Given the description of an element on the screen output the (x, y) to click on. 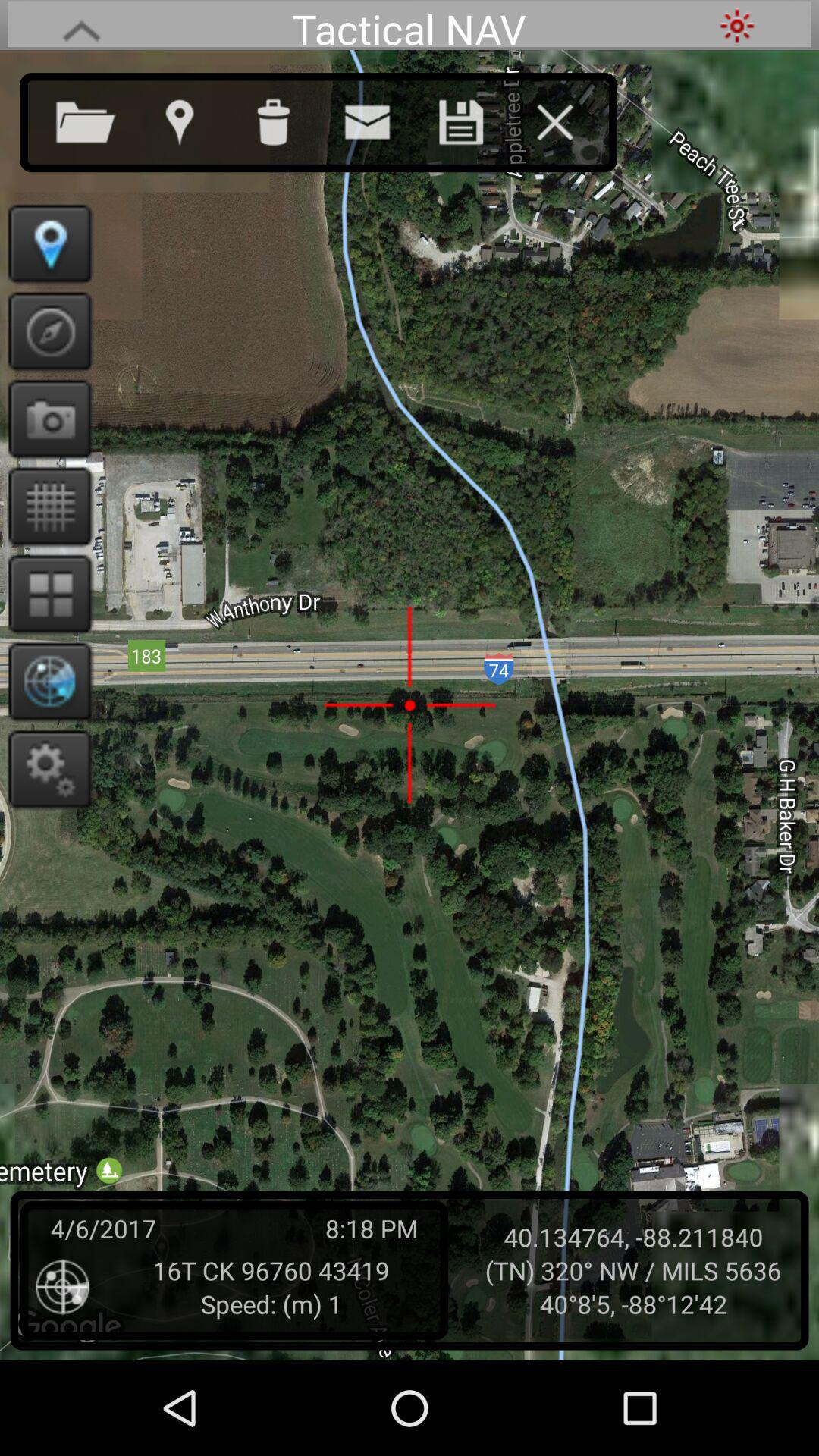
location marker (45, 243)
